Given the description of an element on the screen output the (x, y) to click on. 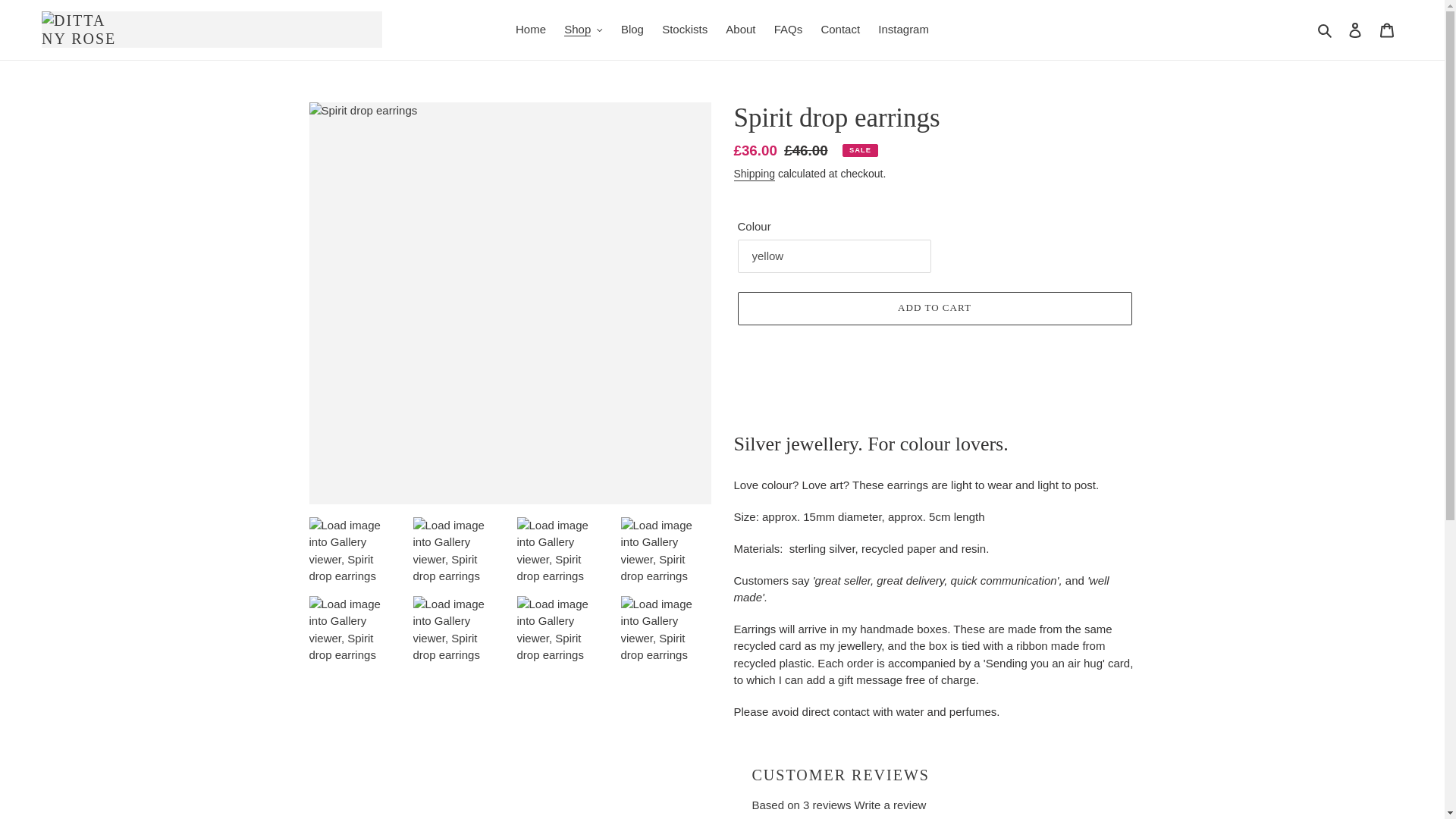
Stockists (683, 29)
Search (1326, 29)
Log in (1355, 29)
Instagram (903, 29)
Contact (839, 29)
Shop (583, 29)
FAQs (788, 29)
Cart (1387, 29)
About (739, 29)
Blog (631, 29)
Home (530, 29)
